Given the description of an element on the screen output the (x, y) to click on. 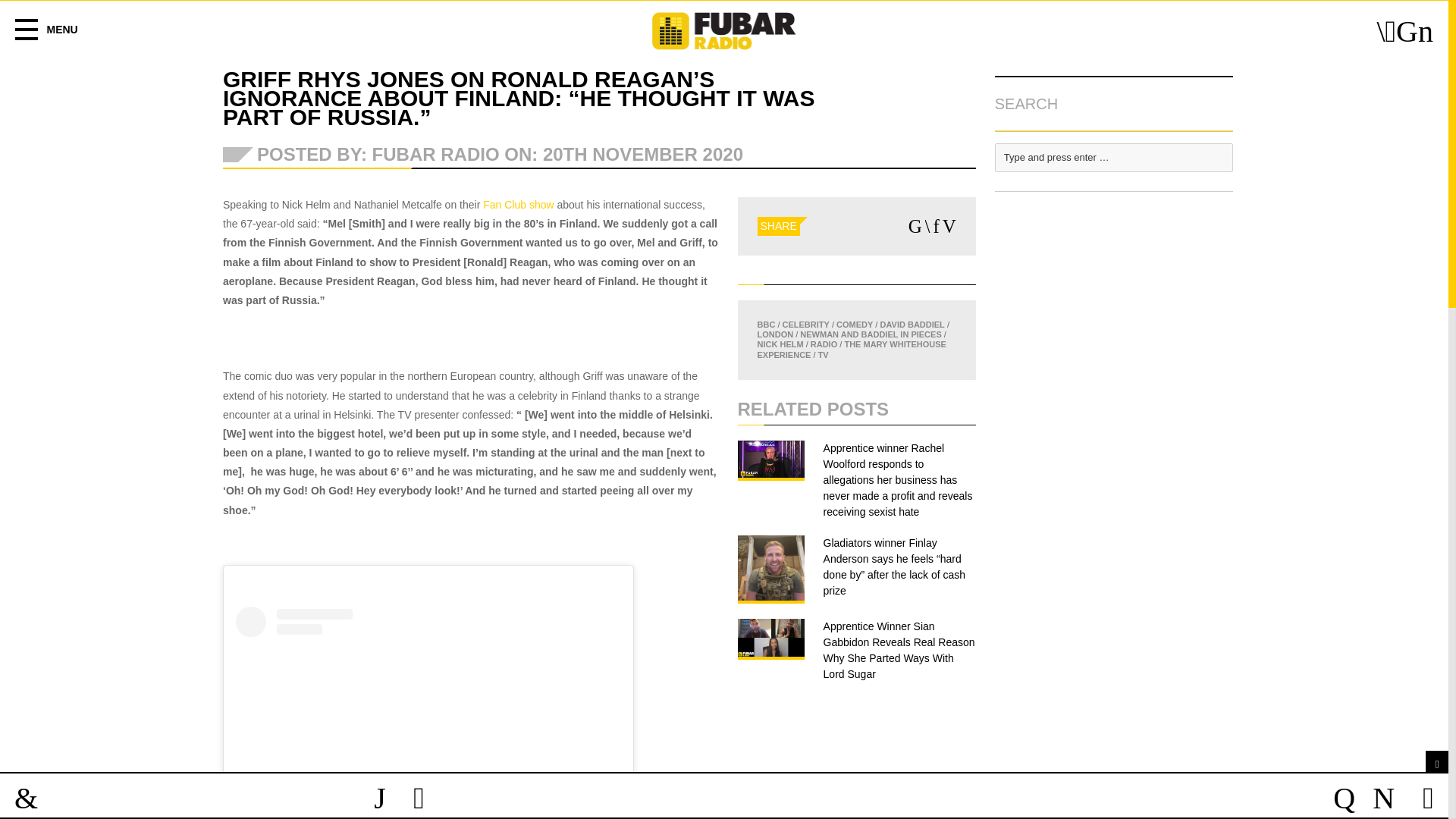
RADIO (823, 343)
LONDON (775, 334)
BBC (765, 324)
COMEDY (853, 324)
NICK HELM (780, 343)
Fan Club show (518, 204)
CELEBRITY (806, 324)
DAVID BADDIEL (911, 324)
